Given the description of an element on the screen output the (x, y) to click on. 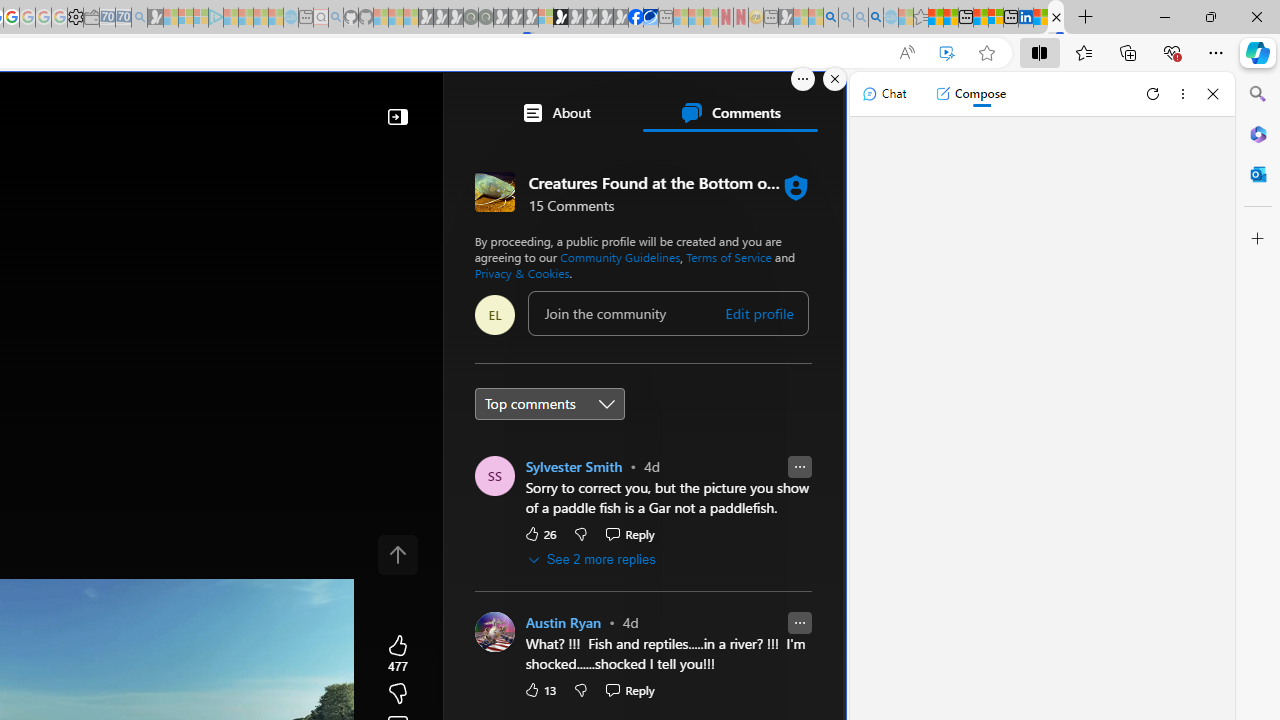
 GettyImages-2157578835.jpg (761, 678)
Sort comments by (548, 403)
MSN - Sleeping (786, 17)
Collapse (397, 115)
